Given the description of an element on the screen output the (x, y) to click on. 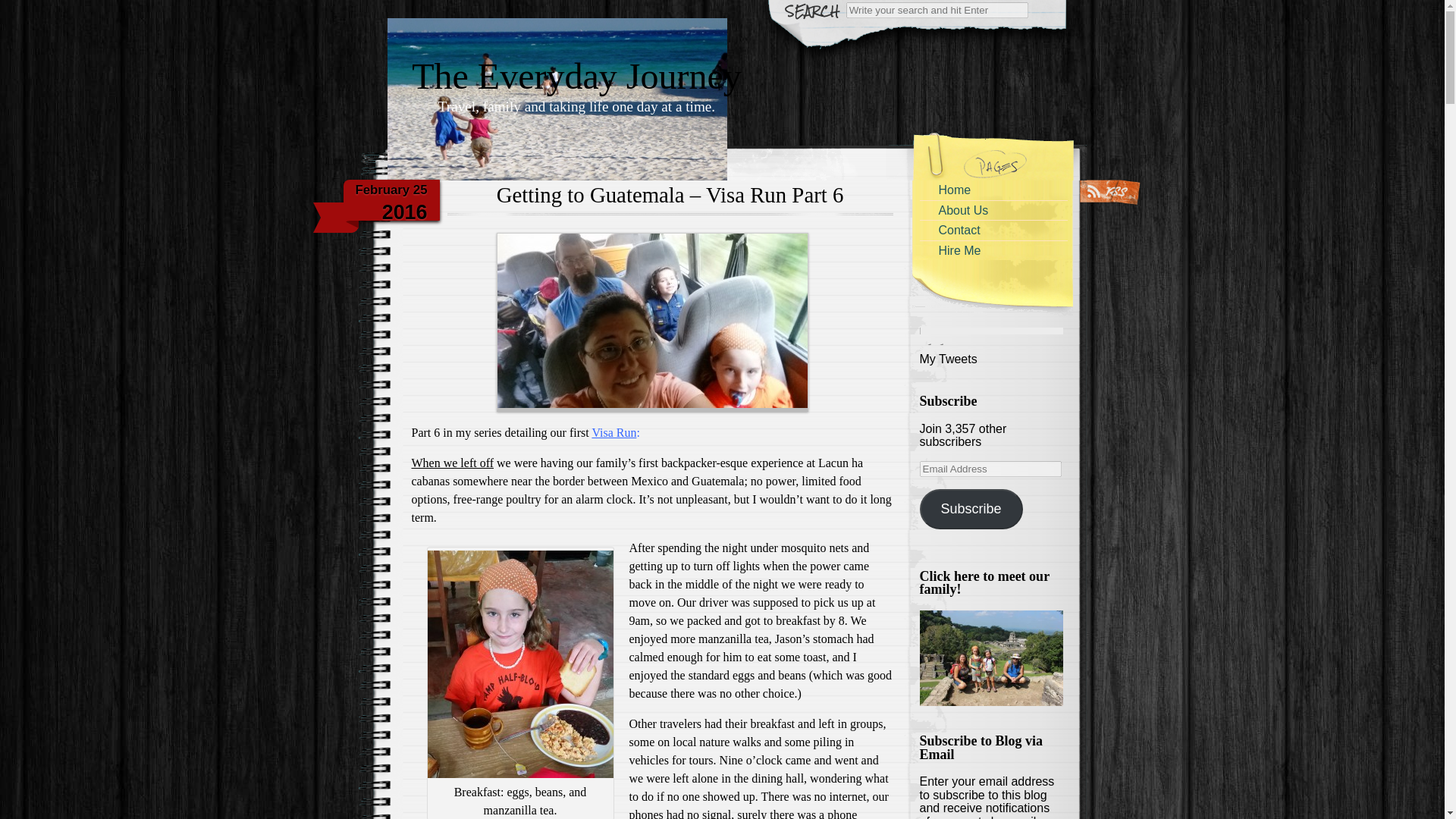
My Tweets (947, 358)
Search (936, 10)
Hire Me (992, 250)
Visa Run (613, 431)
Subscribe (970, 508)
When we left off (451, 462)
Search (21, 7)
About Us (992, 209)
The Everyday Journey (576, 66)
Home (992, 189)
Contact (992, 230)
